Given the description of an element on the screen output the (x, y) to click on. 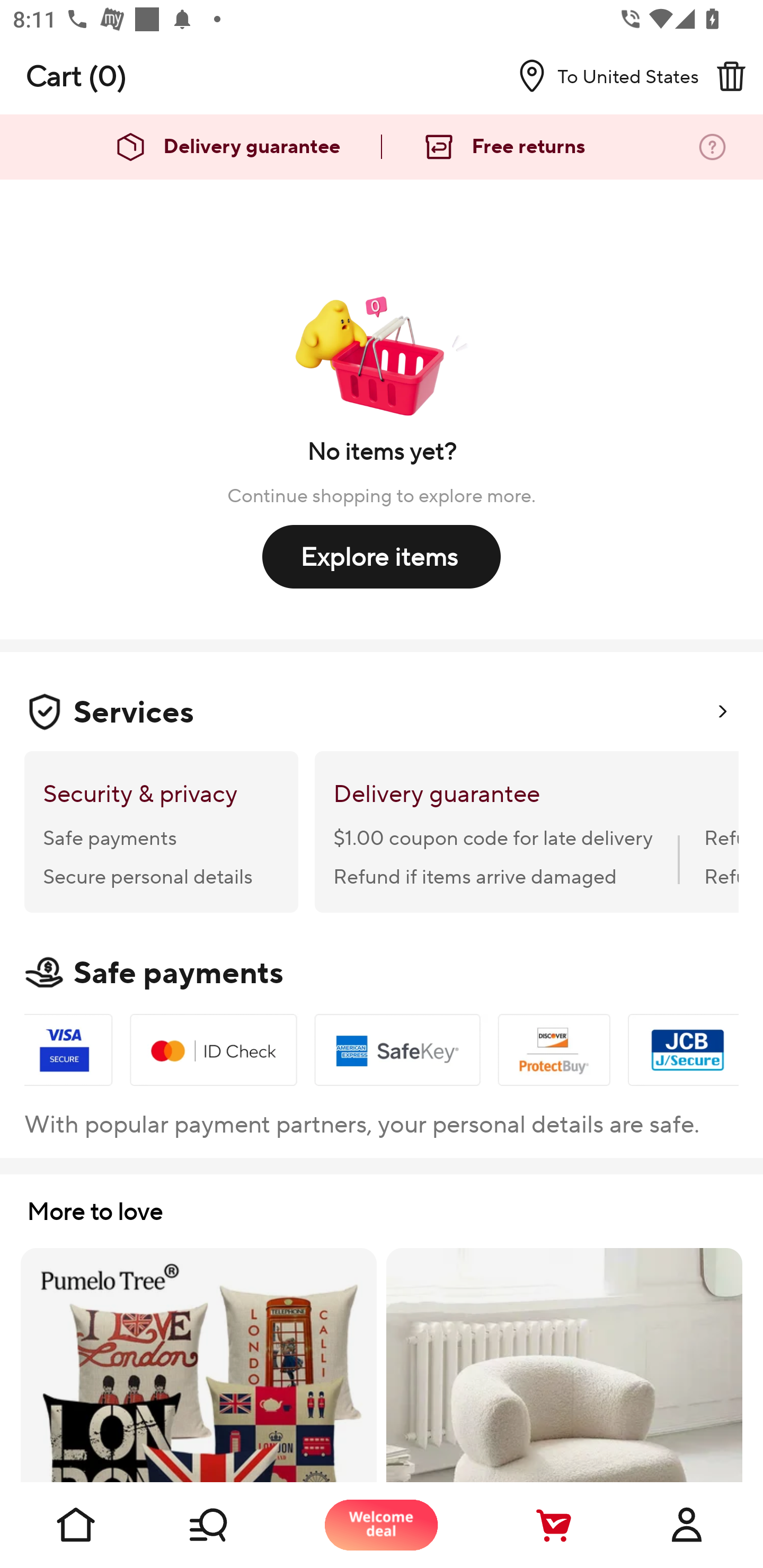
 To United States (601, 75)
 (730, 75)
Explore items  (381, 556)
Home (76, 1524)
Shop (228, 1524)
Account (686, 1524)
